Given the description of an element on the screen output the (x, y) to click on. 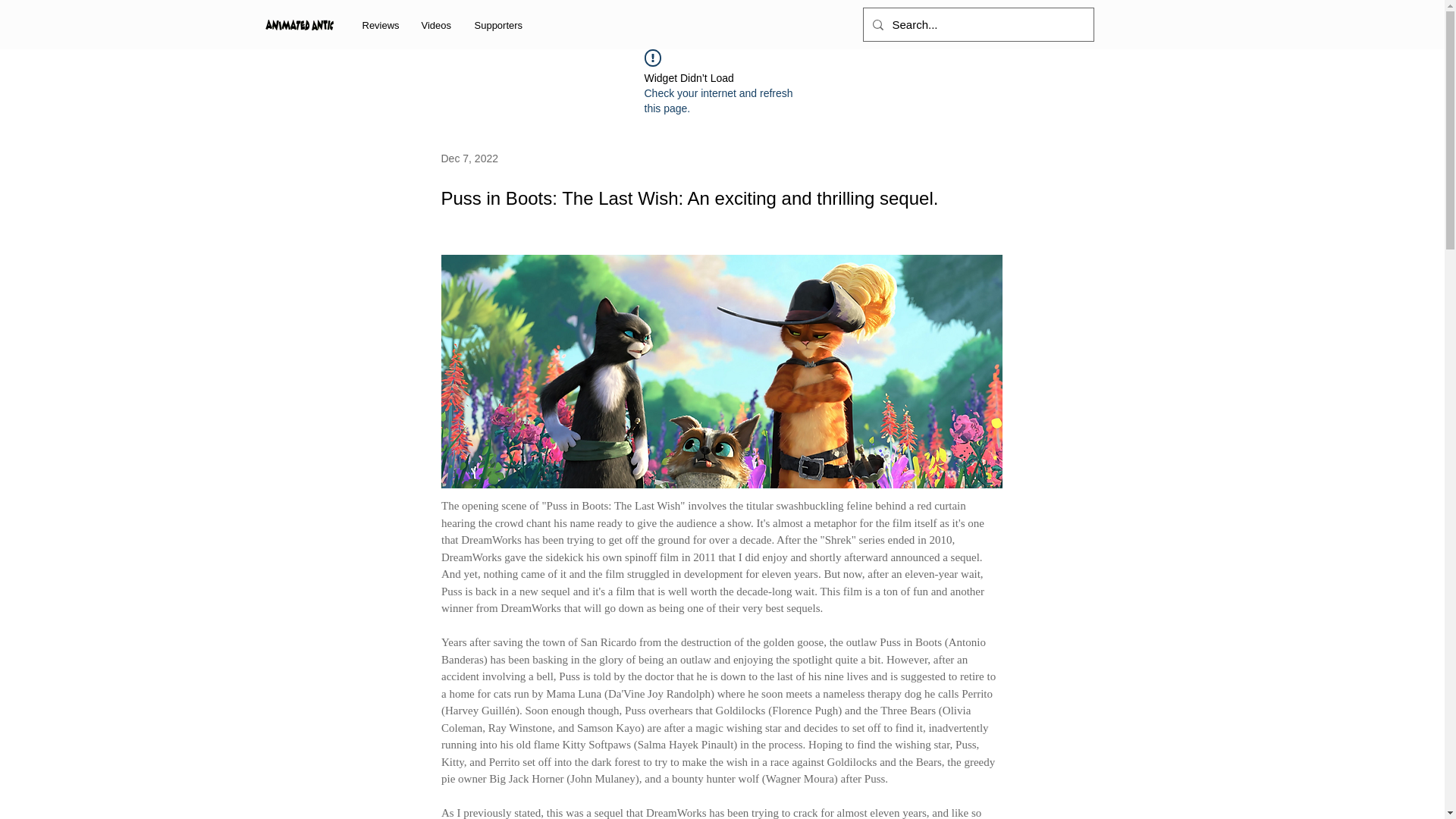
Supporters (499, 25)
Dec 7, 2022 (470, 157)
Videos (436, 25)
Reviews (379, 25)
